Given the description of an element on the screen output the (x, y) to click on. 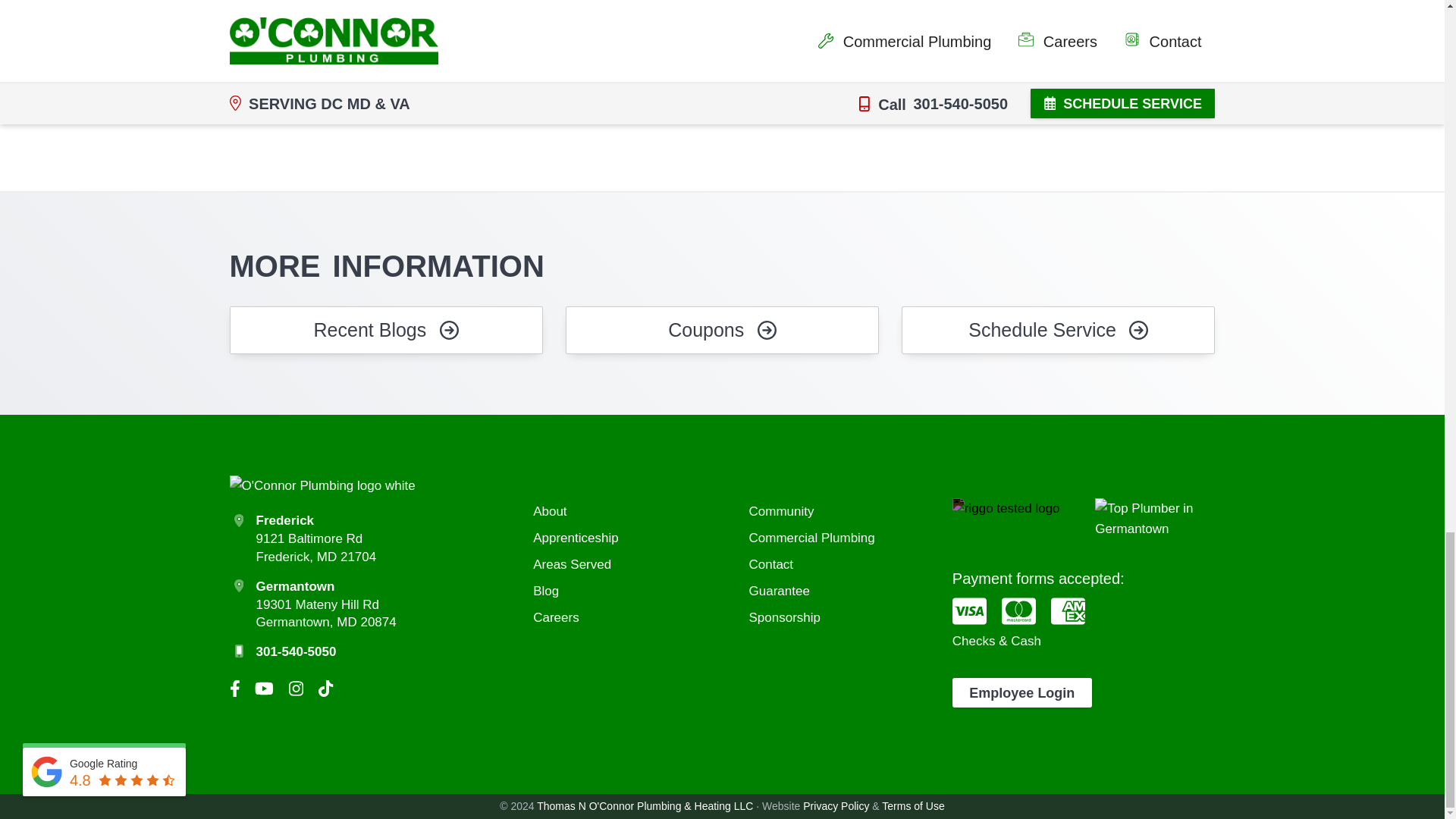
301-540-5050 (341, 111)
send us a message online (475, 111)
